Given the description of an element on the screen output the (x, y) to click on. 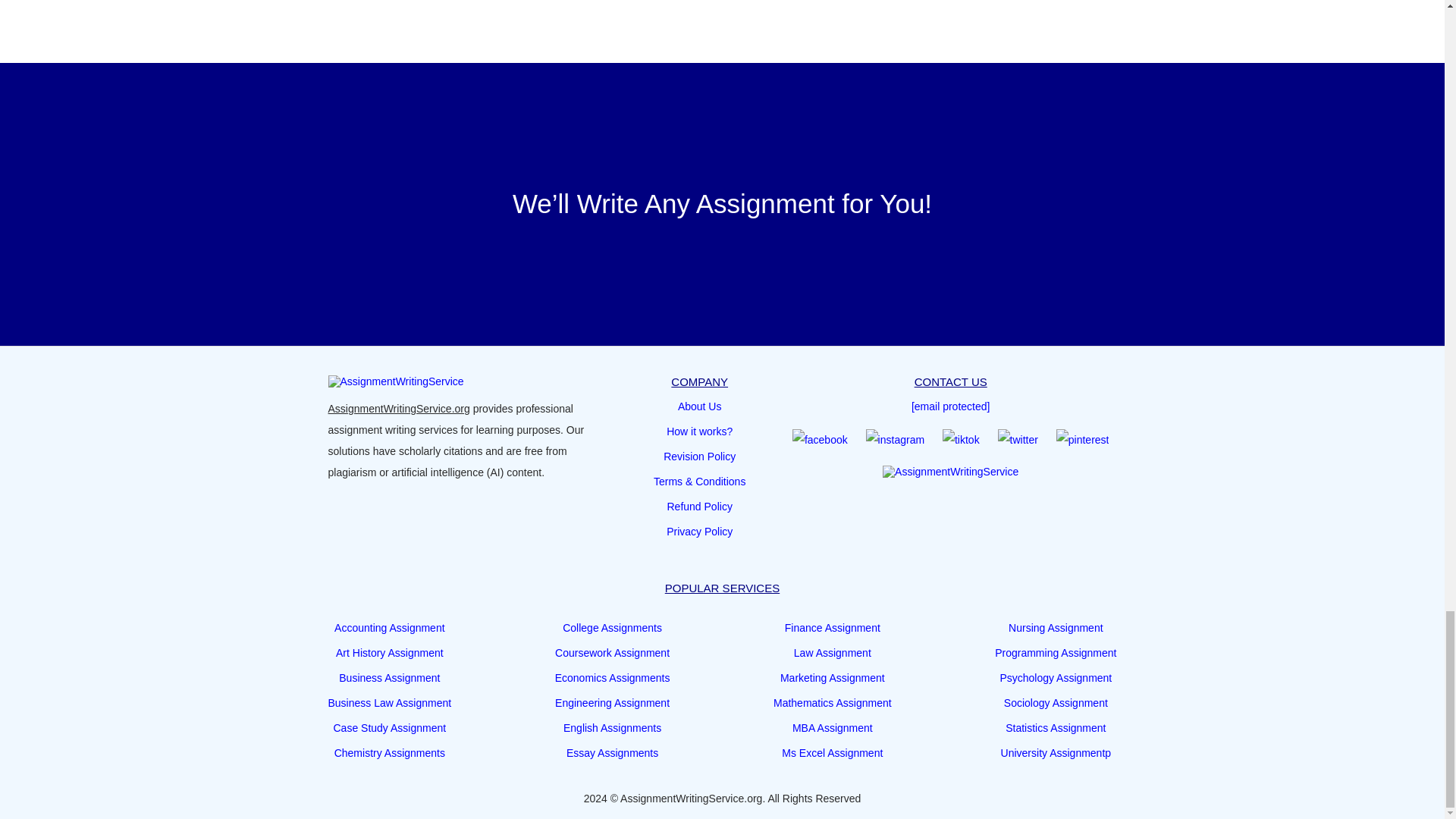
How it works? (699, 431)
Chemistry Assignments (389, 752)
Case Study Assignment (389, 727)
Art History Assignment (390, 652)
Revision Policy (699, 455)
Refund Policy (699, 506)
Accounting Assignment (389, 627)
Business Law Assignment (389, 702)
About Us (700, 405)
College Assignments (612, 627)
